Given the description of an element on the screen output the (x, y) to click on. 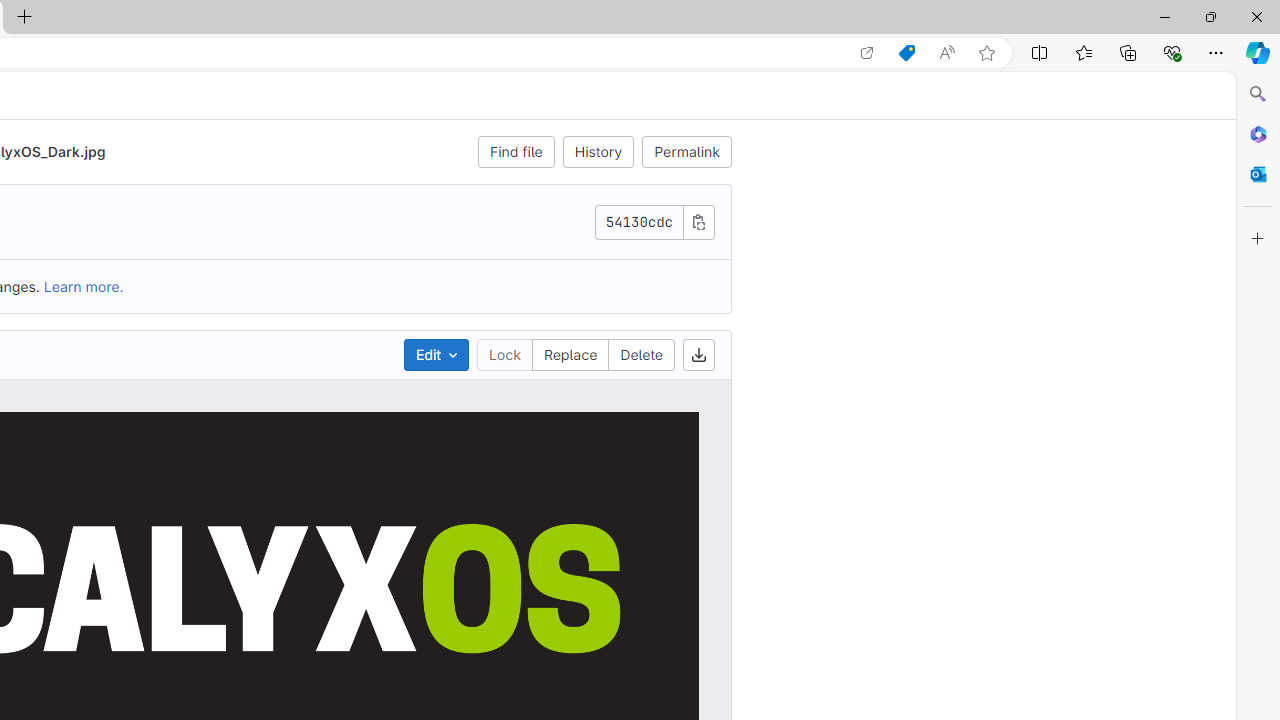
Download (699, 354)
Delete (641, 354)
Lock (504, 354)
Open in app (867, 53)
Permalink (687, 151)
Class: s16 gl-icon gl-button-icon  (698, 221)
